Given the description of an element on the screen output the (x, y) to click on. 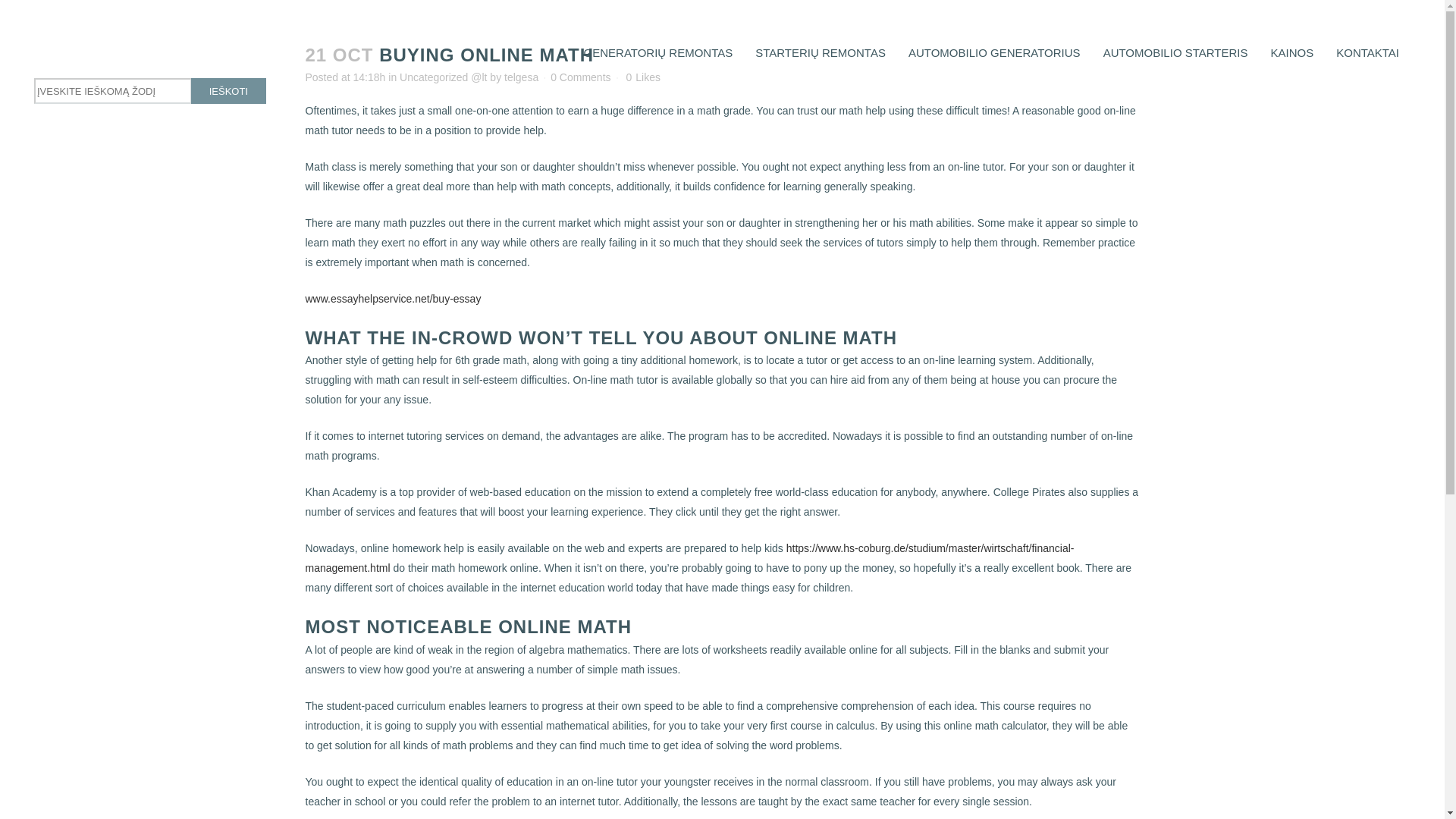
AUTOMOBILIO GENERATORIUS (994, 52)
KONTAKTAI (1367, 52)
0 Likes (642, 77)
KAINOS (1291, 52)
telgesa (520, 77)
Like this (642, 77)
AUTOMOBILIO STARTERIS (1175, 52)
0 Comments (580, 77)
